Given the description of an element on the screen output the (x, y) to click on. 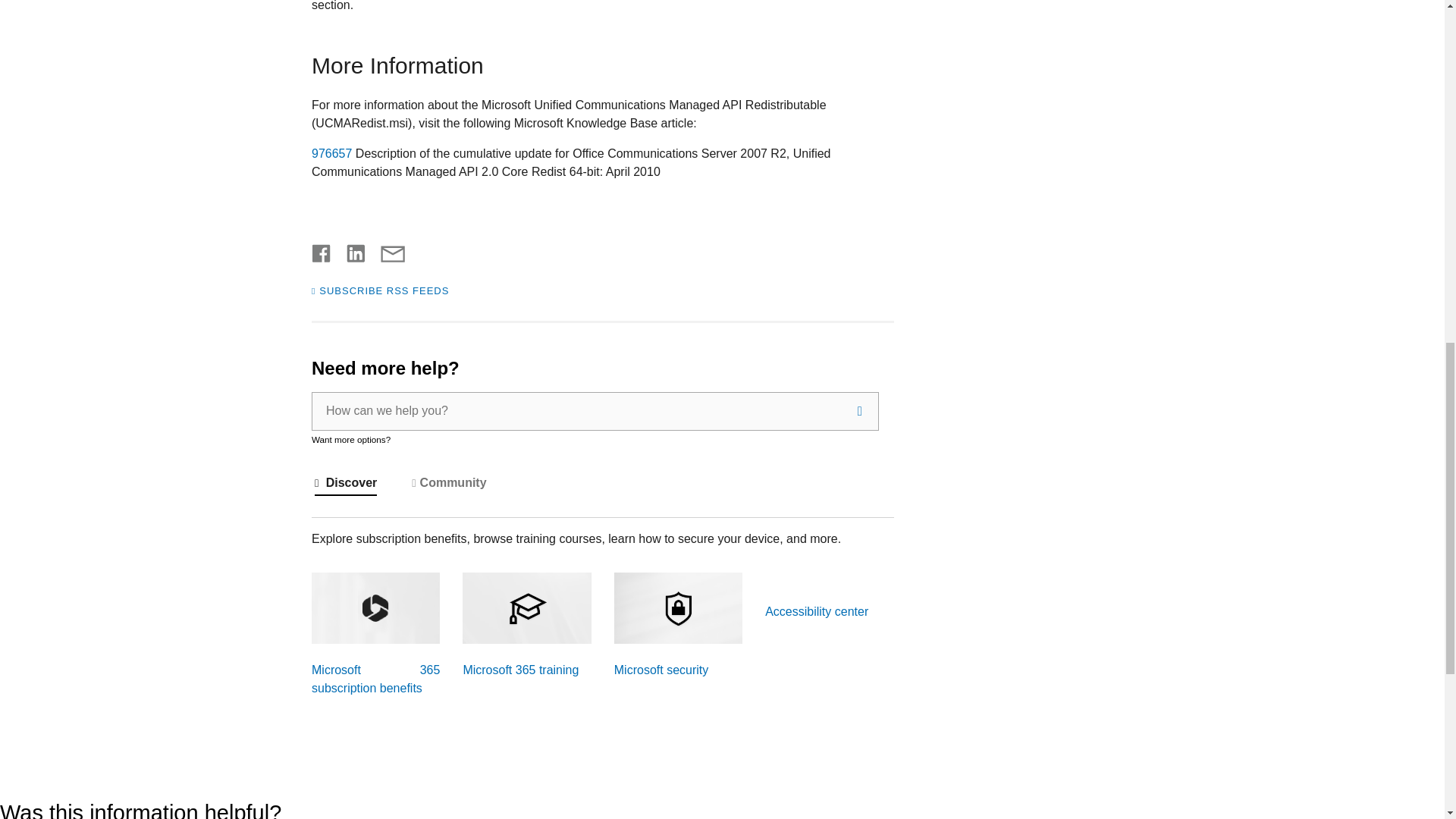
Share on Facebook (322, 250)
Share by email (385, 250)
Search (860, 411)
Share on LinkedIn (349, 250)
